Given the description of an element on the screen output the (x, y) to click on. 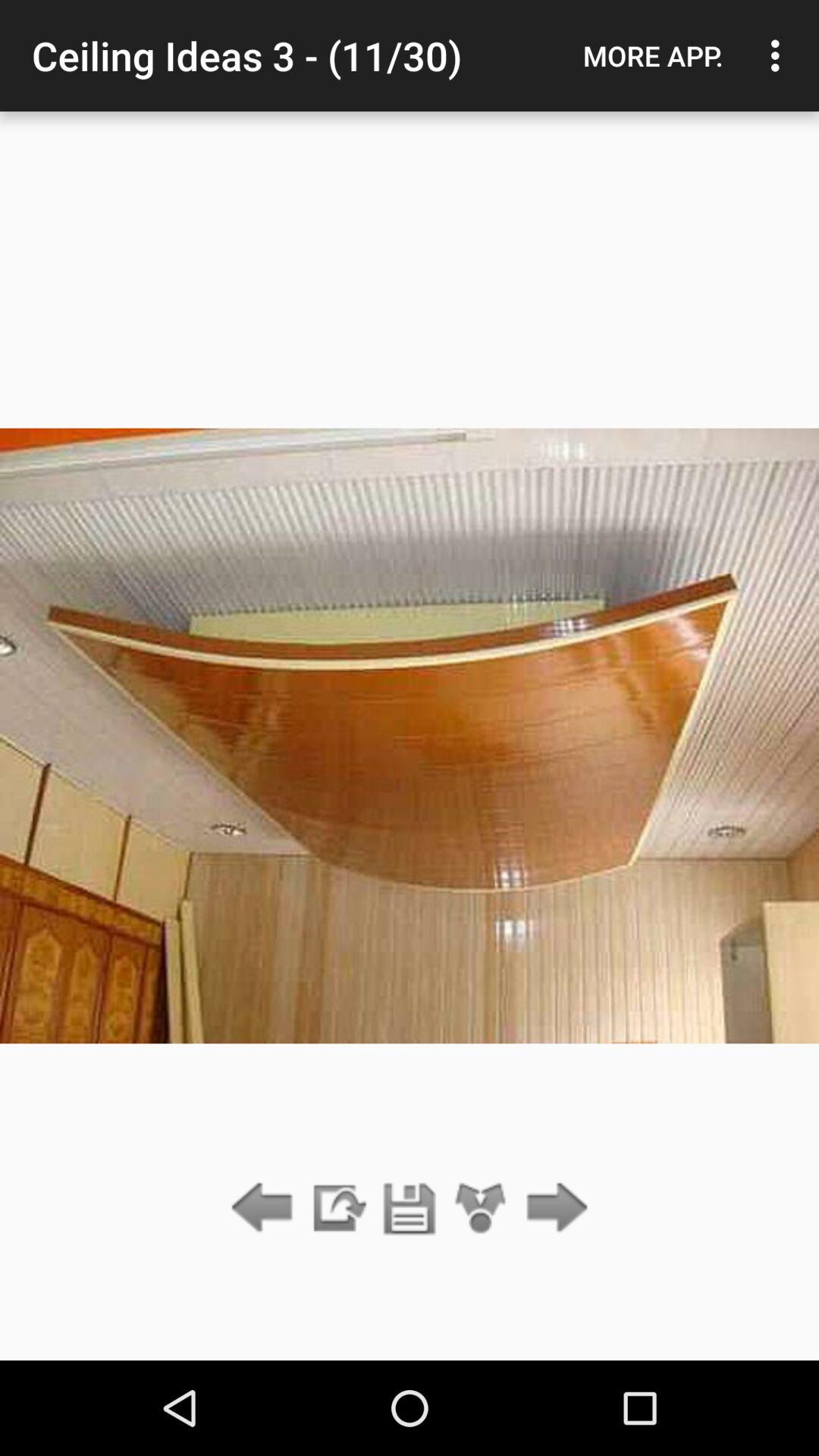
edit the picture (337, 1208)
